Given the description of an element on the screen output the (x, y) to click on. 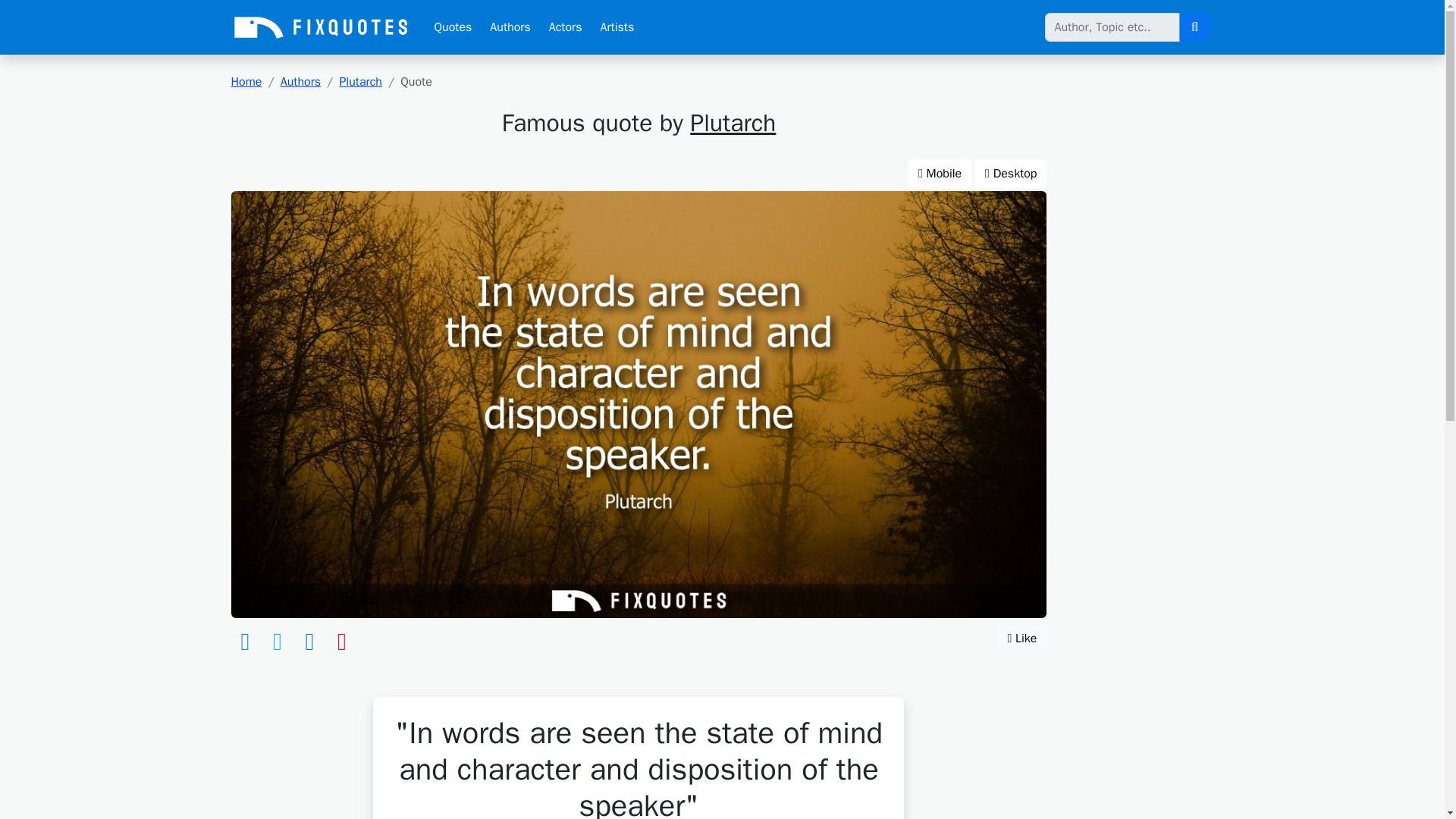
Desktop (1010, 173)
View Desktop version (1010, 173)
Mobile (939, 173)
Authors (300, 81)
Authors (509, 27)
Artists (617, 27)
Plutarch (360, 81)
View Mobile version (939, 173)
Home (246, 81)
Actors (565, 27)
Click to search (1193, 26)
Plutarch (733, 122)
Quotes (452, 27)
